Given the description of an element on the screen output the (x, y) to click on. 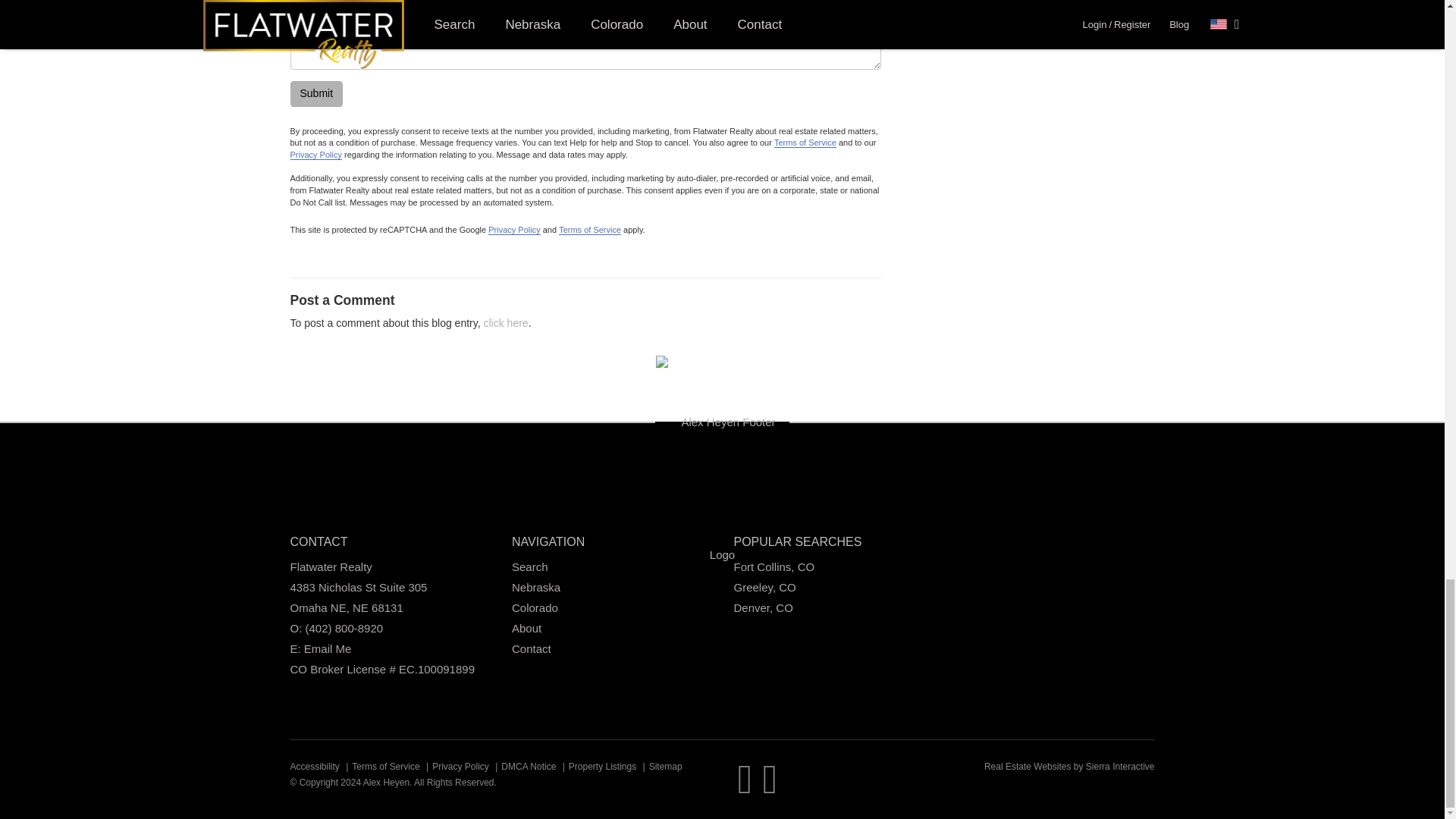
Please enter your question (584, 48)
